Given the description of an element on the screen output the (x, y) to click on. 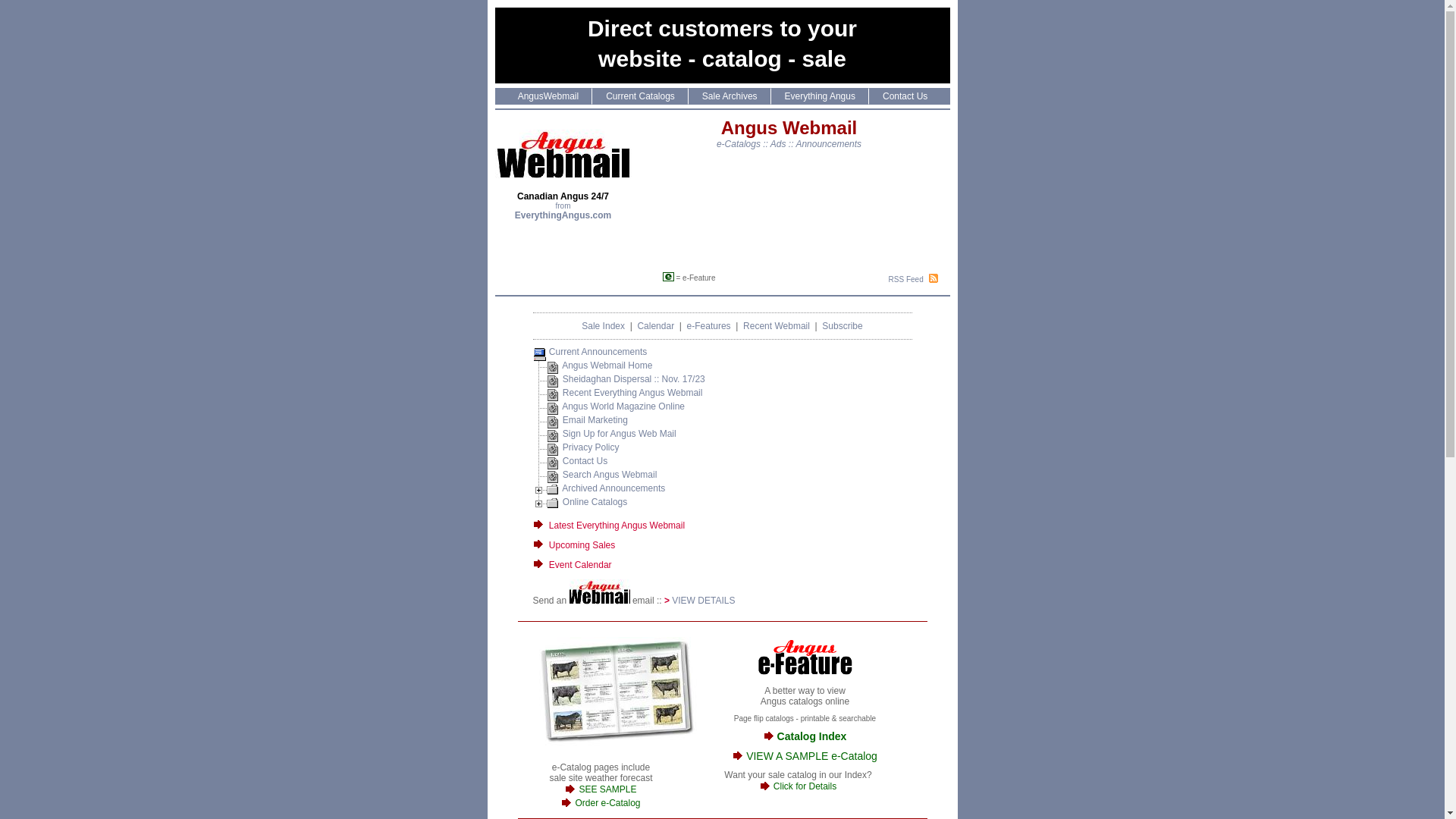
Everything Angus Element type: text (819, 95)
Click for Details Element type: text (804, 786)
Send an Element type: text (550, 600)
Current Catalogs Element type: text (639, 95)
Subscribe Element type: text (842, 325)
Email Marketing Element type: text (594, 419)
Sign Up for Angus Web Mail Element type: text (619, 433)
Latest Element type: text (561, 525)
e-Features Element type: text (709, 325)
Current Announcements Element type: text (597, 351)
VIEW A SAMPLE e-Catalog Element type: text (811, 755)
AngusWebmail Element type: text (547, 95)
RSS Feed Element type: text (906, 279)
Event Calendar Element type: text (580, 564)
Online Catalogs Element type: text (594, 501)
VIEW DETAILS Element type: text (702, 600)
Angus Webmail Home Element type: text (606, 365)
EverythingAngus.com Element type: text (562, 215)
Recent Everything Angus Webmail Element type: text (632, 392)
Privacy Policy Element type: text (590, 447)
Sale Archives Element type: text (729, 95)
Calendar Element type: text (655, 325)
Angus World Magazine Online Element type: text (622, 406)
Catalog Index Element type: text (812, 736)
Contact Us Element type: text (584, 460)
fw-iframe Element type: hover (799, 207)
Everything Angus Webmail Element type: text (629, 525)
SEE SAMPLE Element type: text (607, 789)
Order e-Catalog Element type: text (607, 802)
Recent Webmail Element type: text (776, 325)
Search Angus Webmail Element type: text (609, 474)
Contact Us Element type: text (904, 95)
Sheidaghan Dispersal :: Nov. 17/23 Element type: text (633, 378)
Sale Index Element type: text (602, 325)
Upcoming Sales Element type: text (582, 544)
